Given the description of an element on the screen output the (x, y) to click on. 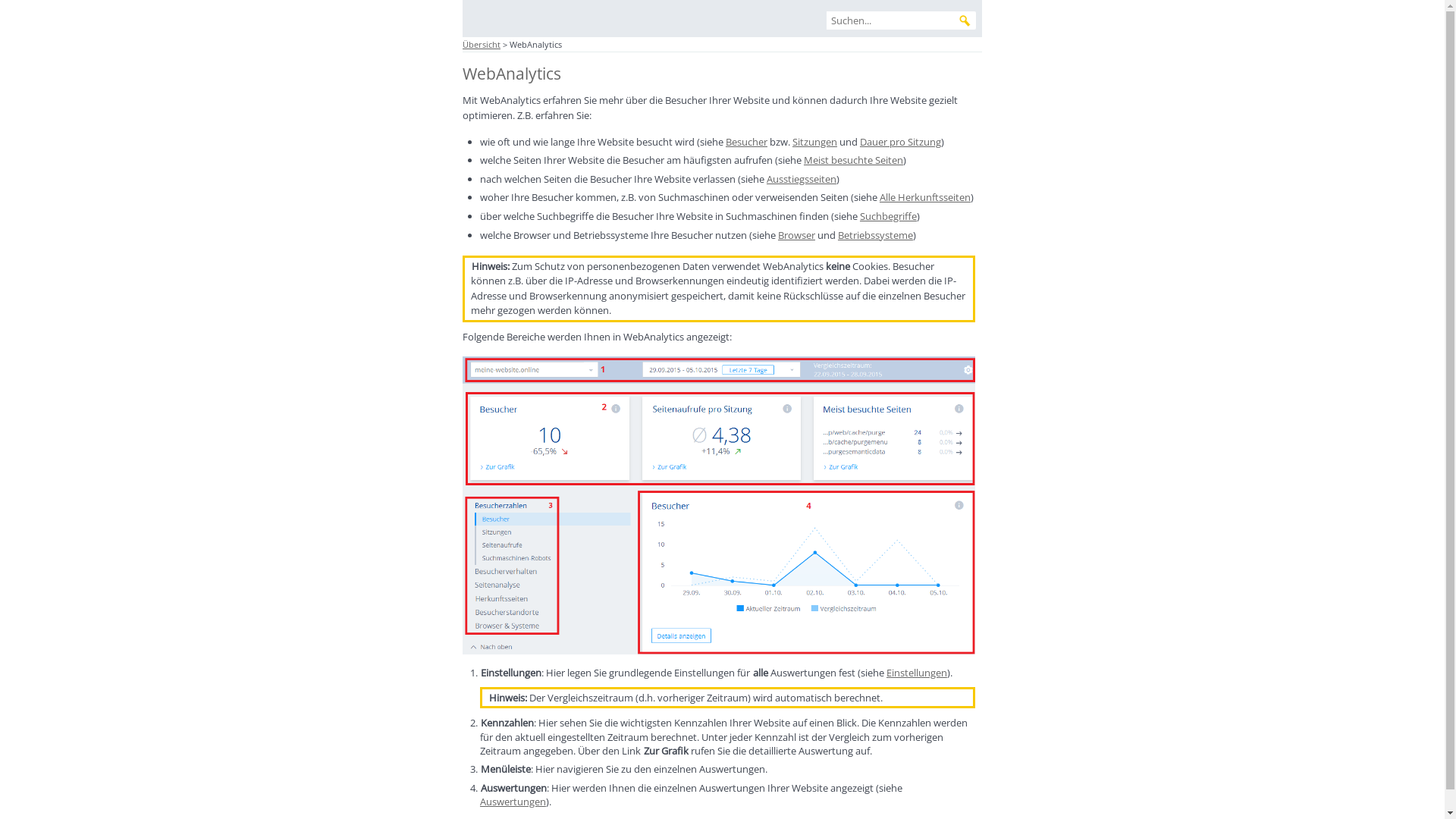
Dauer pro Sitzung Element type: text (900, 141)
Ausstiegsseiten Element type: text (801, 178)
Auswertungen Element type: text (513, 801)
Browser Element type: text (796, 234)
Alle Herkunftsseiten Element type: text (924, 196)
Betriebssysteme Element type: text (875, 234)
Sitzungen Element type: text (814, 141)
Suchbegriffe Element type: text (887, 215)
Meist besuchte Seiten Element type: text (853, 159)
Einstellungen Element type: text (916, 672)
Besucher Element type: text (746, 141)
